Given the description of an element on the screen output the (x, y) to click on. 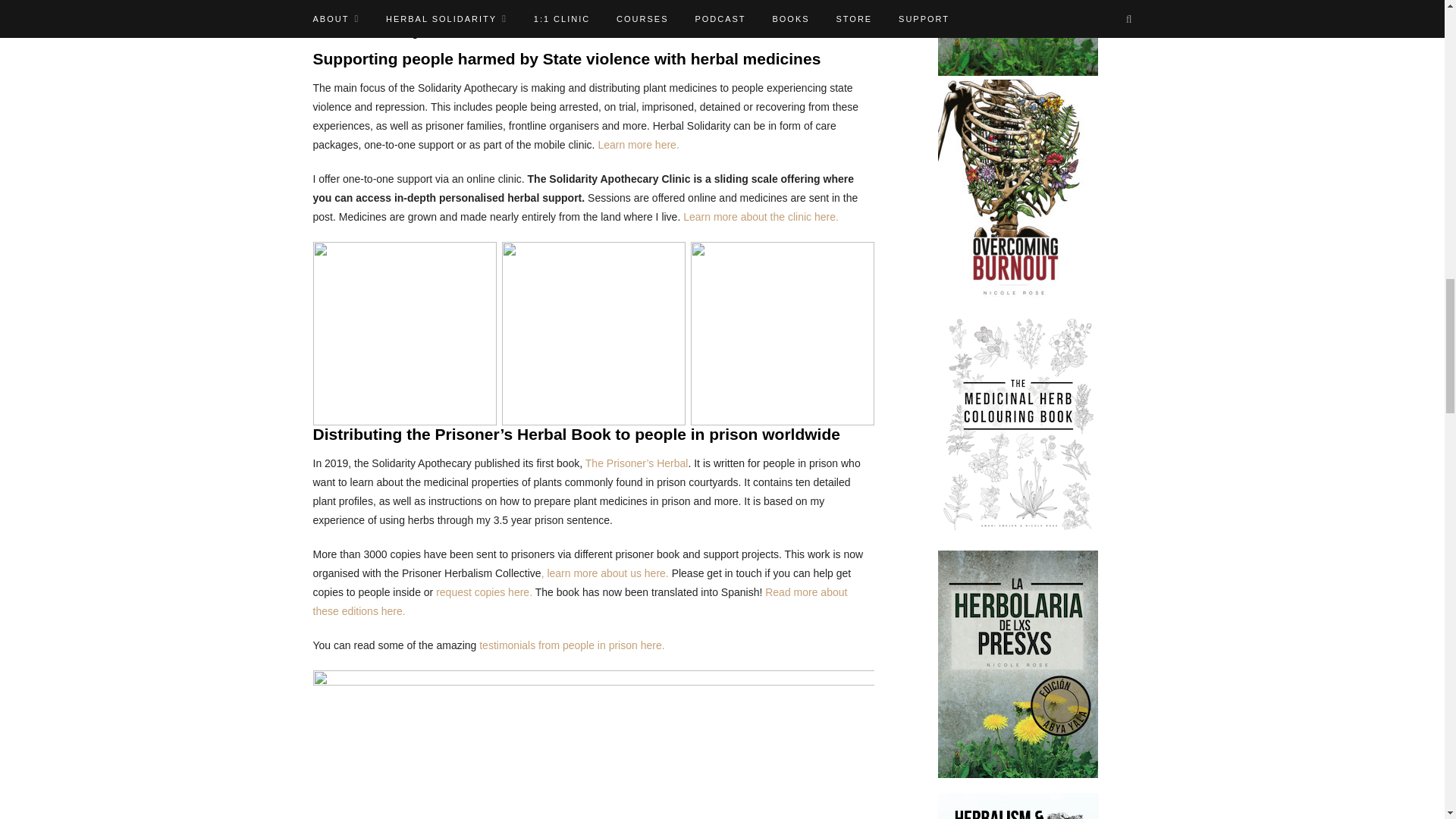
request copies here. (483, 592)
Learn more here. (637, 144)
, learn more about us here. (604, 573)
Learn more about the clinic here. (760, 216)
Read more about these editions here. (580, 601)
testimonials from people in prison here. (571, 645)
